Given the description of an element on the screen output the (x, y) to click on. 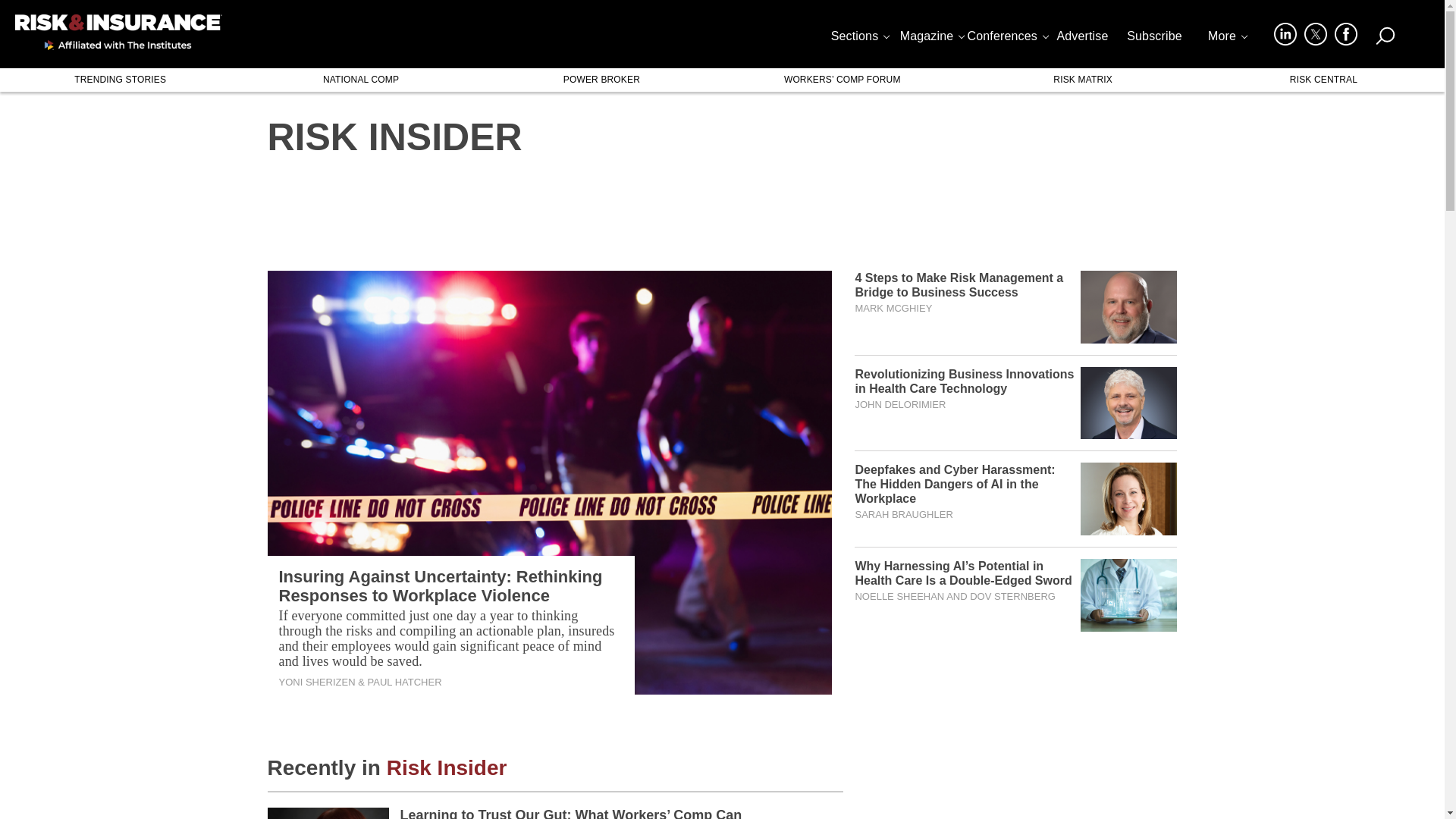
Advertise (1082, 39)
More (1226, 39)
Sections (859, 39)
Posts by John deLorimier (899, 404)
Posts by Noelle Sheehan and Dov Sternberg (954, 596)
Magazine (931, 39)
Subscribe (1154, 39)
NATIONAL COMP (360, 79)
Conferences (1007, 39)
TRENDING STORIES (120, 79)
Posts by Mark McGhiey (892, 308)
3rd party ad content (721, 207)
Posts by Sarah Braughler (903, 514)
